Given the description of an element on the screen output the (x, y) to click on. 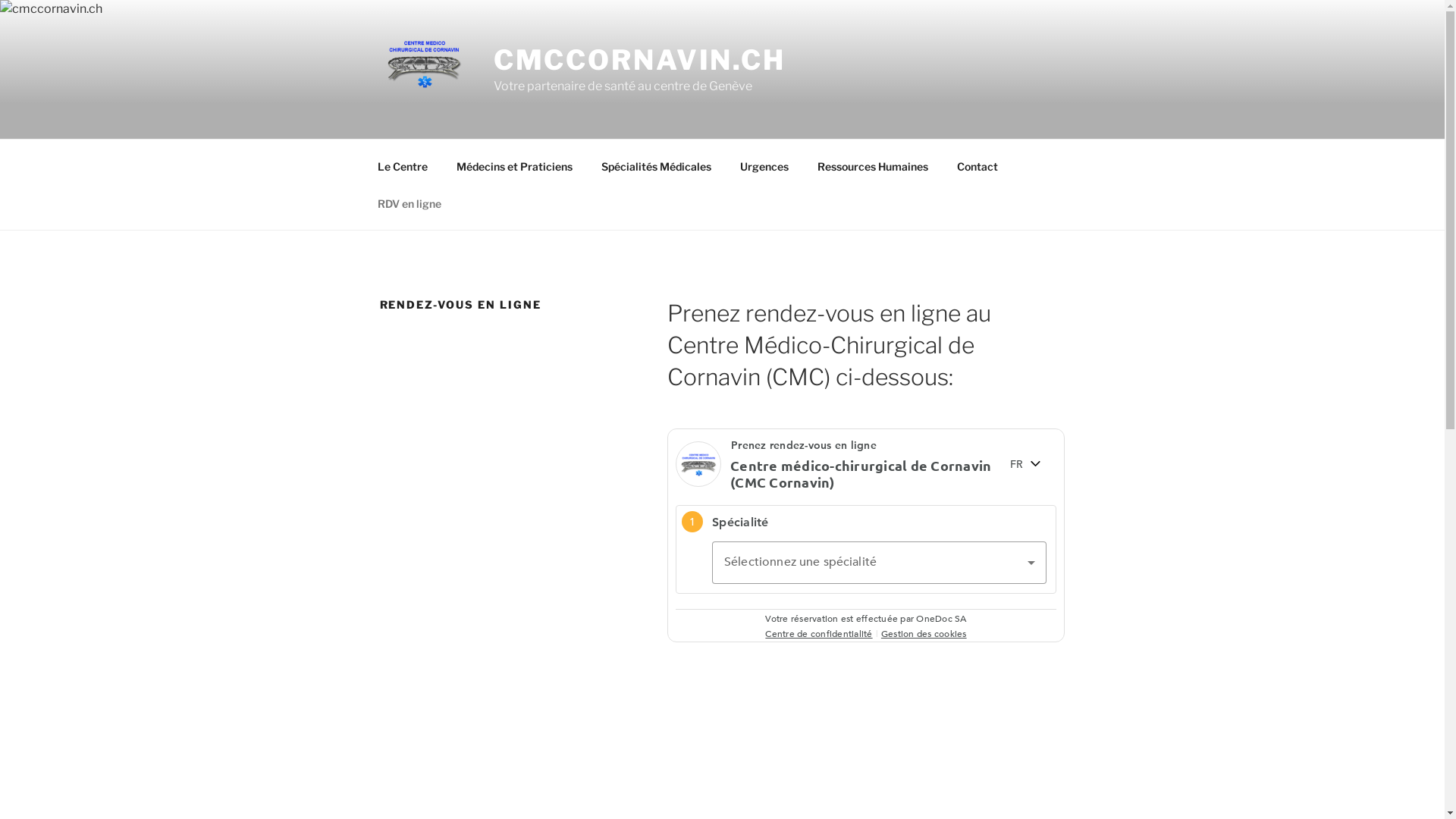
Contact Element type: text (976, 165)
RDV en ligne Element type: text (409, 203)
Aller au contenu principal Element type: text (0, 0)
Ressources Humaines Element type: text (872, 165)
CMCCORNAVIN.CH Element type: text (639, 59)
Urgences Element type: text (763, 165)
Le Centre Element type: text (402, 165)
